Given the description of an element on the screen output the (x, y) to click on. 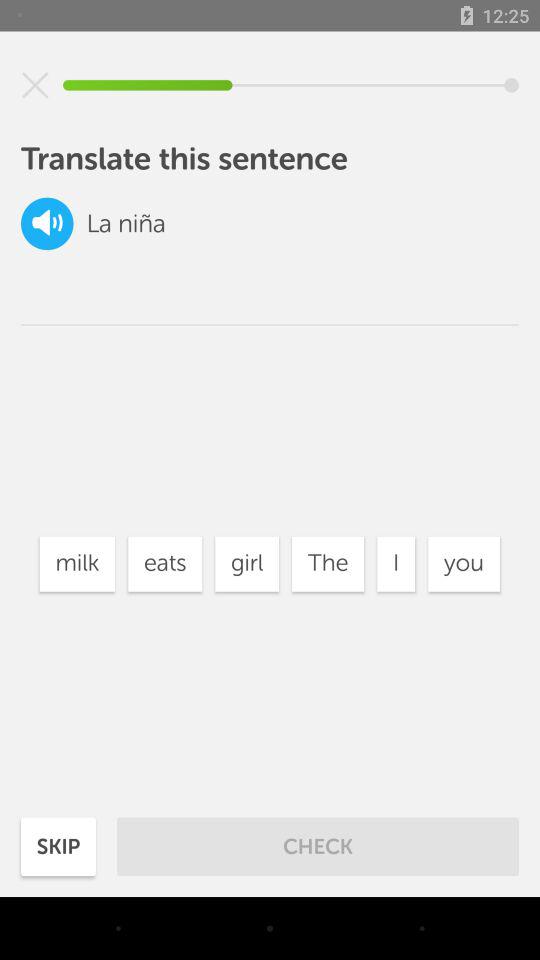
scroll to check (318, 846)
